Given the description of an element on the screen output the (x, y) to click on. 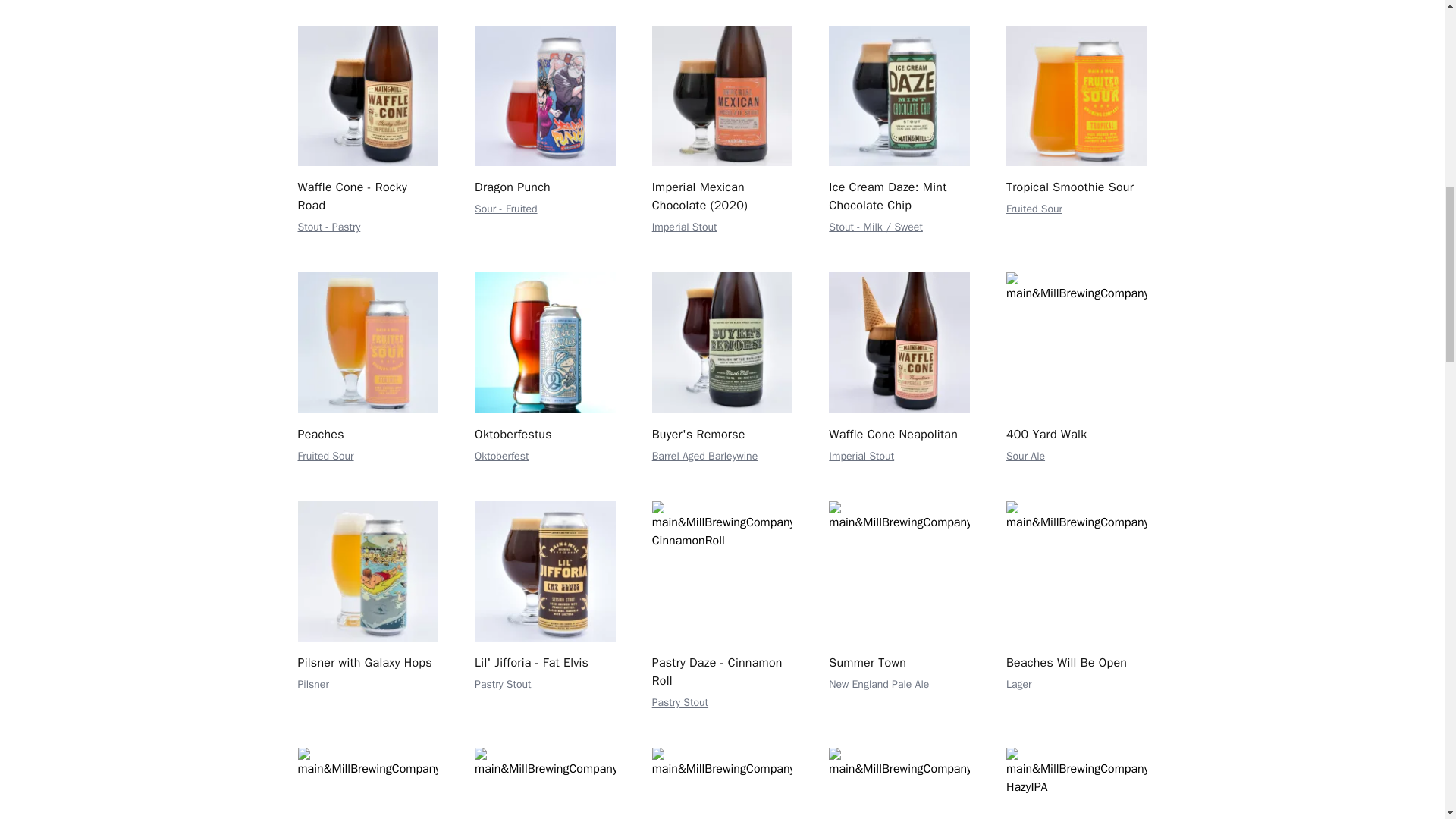
Pilsner (313, 684)
Sour - Fruited (505, 208)
Stout - Pastry (328, 226)
Barrel Aged Barleywine (705, 455)
Imperial Stout (684, 226)
Imperial Stout (860, 455)
Fruited Sour (1034, 208)
Oktoberfest (501, 455)
Sour Ale (1025, 455)
Fruited Sour (325, 455)
